Given the description of an element on the screen output the (x, y) to click on. 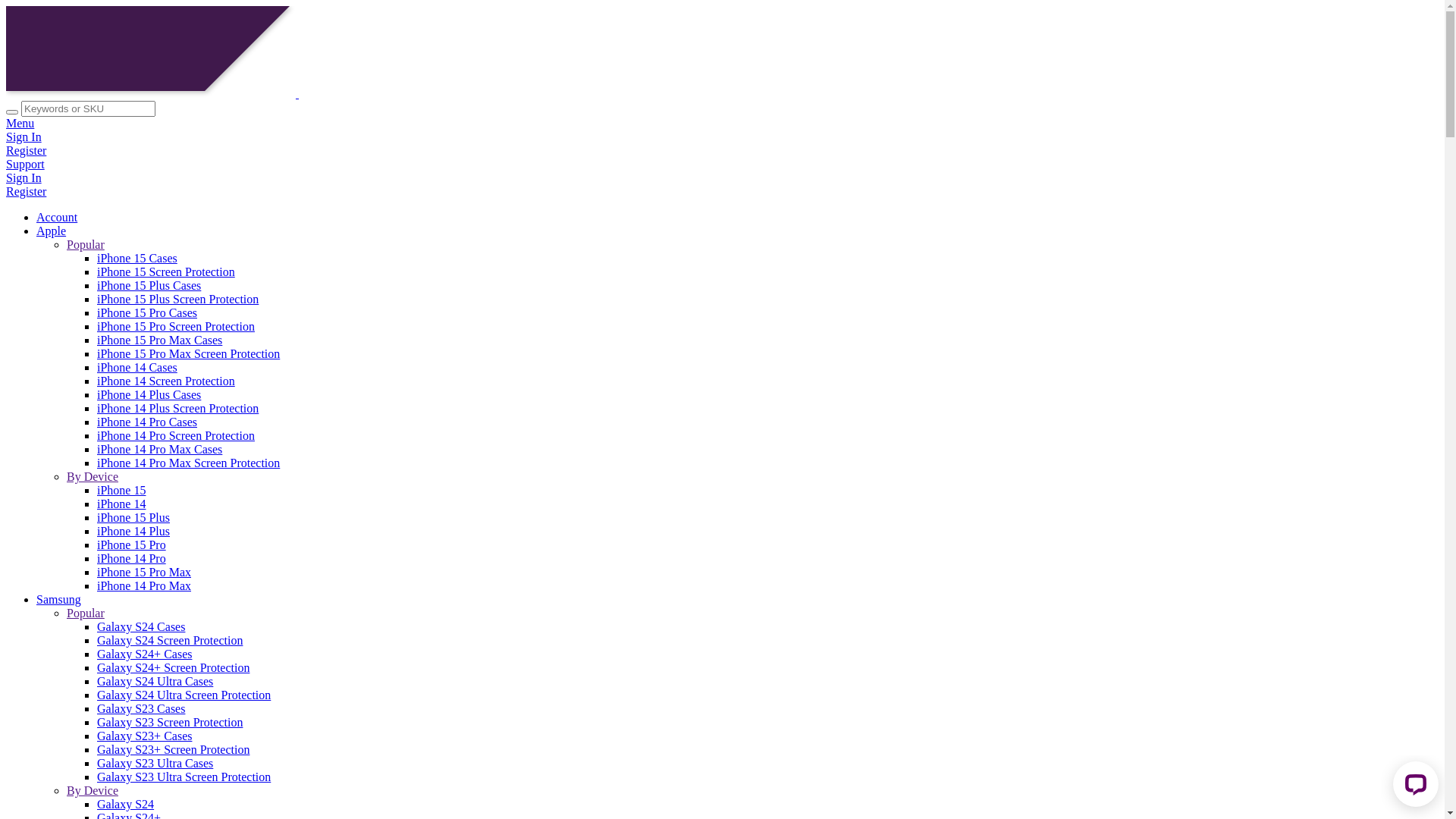
Account Element type: text (56, 216)
Popular Element type: text (85, 612)
Galaxy S24+ Screen Protection Element type: text (173, 667)
iPhone 14 Element type: text (121, 503)
Galaxy S24 Cases Element type: text (141, 626)
Apple Element type: text (50, 230)
Sign In Element type: text (722, 178)
Register Element type: text (722, 150)
Galaxy S23 Ultra Cases Element type: text (155, 762)
Galaxy S24 Ultra Screen Protection Element type: text (183, 694)
Galaxy S23 Screen Protection Element type: text (169, 721)
iPhone 14 Pro Screen Protection Element type: text (175, 435)
Galaxy S23+ Screen Protection Element type: text (173, 749)
iPhone 15 Plus Cases Element type: text (148, 285)
Galaxy S24 Ultra Cases Element type: text (155, 680)
Register Element type: text (722, 191)
By Device Element type: text (92, 790)
iPhone 15 Pro Max Screen Protection Element type: text (188, 353)
iPhone 15 Pro Cases Element type: text (147, 312)
Galaxy S24+ Cases Element type: text (144, 653)
iPhone 14 Plus Element type: text (133, 530)
iPhone 15 Cases Element type: text (137, 257)
iPhone 15 Pro Screen Protection Element type: text (175, 326)
Galaxy S23+ Cases Element type: text (144, 735)
Galaxy S23 Cases Element type: text (141, 708)
Samsung Element type: text (58, 599)
iPhone 15 Pro Max Cases Element type: text (159, 339)
iPhone 15 Pro Element type: text (131, 544)
Galaxy S24 Element type: text (125, 803)
iPhone 15 Element type: text (121, 489)
iPhone 14 Plus Cases Element type: text (148, 394)
iPhone 14 Pro Element type: text (131, 558)
iPhone 15 Plus Screen Protection Element type: text (177, 298)
Sign In Element type: text (722, 137)
Menu Element type: text (722, 123)
iPhone 14 Pro Cases Element type: text (147, 421)
iPhone 14 Plus Screen Protection Element type: text (177, 407)
Galaxy S24 Screen Protection Element type: text (169, 639)
iPhone 14 Pro Max Element type: text (144, 585)
iPhone 14 Cases Element type: text (137, 366)
Popular Element type: text (85, 244)
Force Technology Element type: text (235, 93)
By Device Element type: text (92, 476)
Galaxy S23 Ultra Screen Protection Element type: text (183, 776)
iPhone 14 Pro Max Cases Element type: text (159, 448)
iPhone 15 Pro Max Element type: text (144, 571)
Support Element type: text (722, 164)
iPhone 15 Screen Protection Element type: text (166, 271)
iPhone 15 Plus Element type: text (133, 517)
iPhone 14 Screen Protection Element type: text (166, 380)
iPhone 14 Pro Max Screen Protection Element type: text (188, 462)
